Given the description of an element on the screen output the (x, y) to click on. 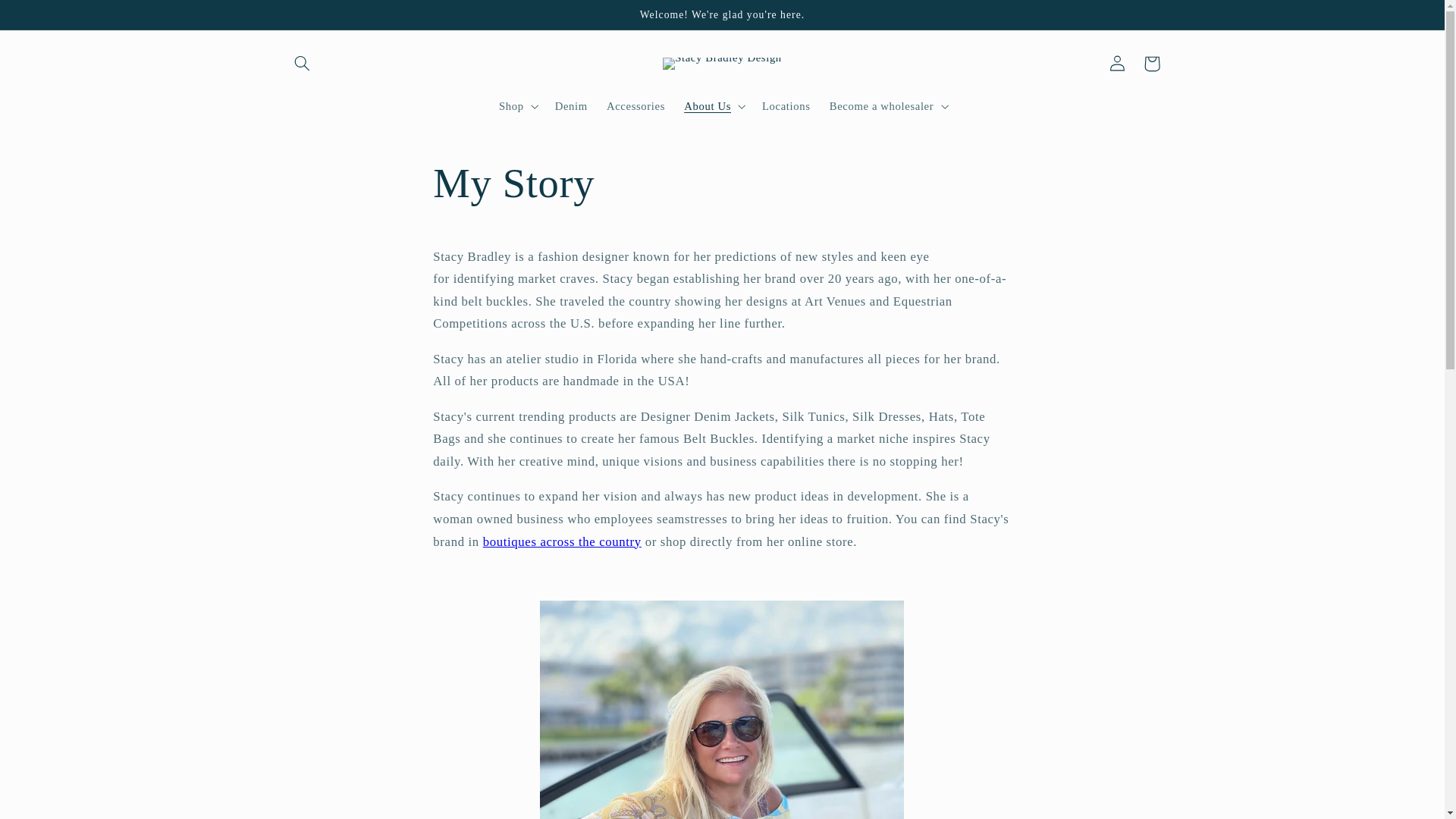
Skip to content (48, 18)
Denim (570, 105)
